Given the description of an element on the screen output the (x, y) to click on. 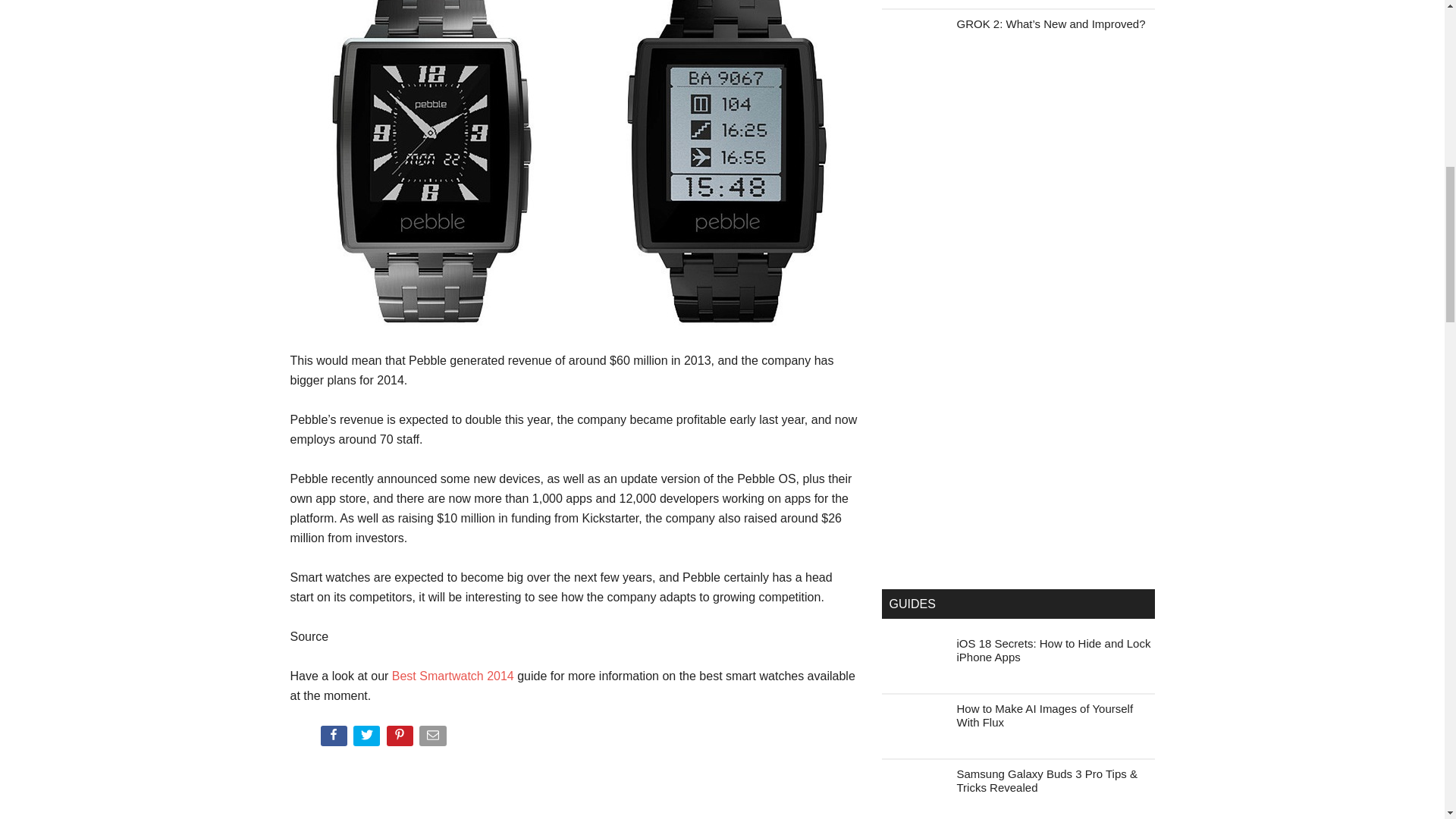
best smartwatch (452, 675)
Tweet (367, 738)
Best Smartwatch 2014 (452, 675)
Pin (401, 738)
Share on Facebook (334, 738)
Email (433, 738)
